Given the description of an element on the screen output the (x, y) to click on. 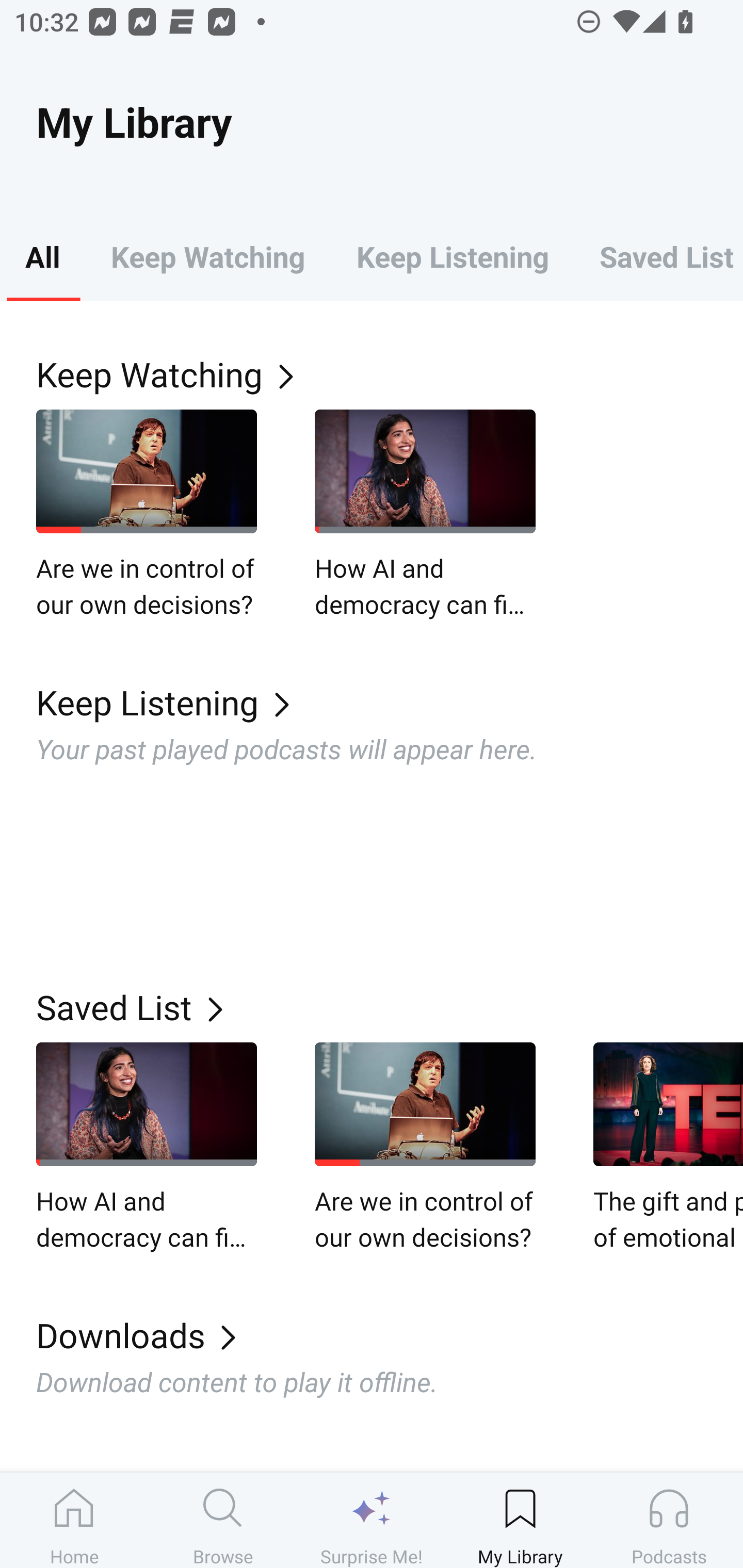
All (42, 256)
Keep Watching (207, 256)
Keep Listening (452, 256)
Saved List (658, 256)
Keep Watching (389, 373)
Are we in control of our own decisions? (146, 514)
How AI and democracy can fix each other (425, 514)
Keep Listening (389, 702)
Saved List (389, 1007)
How AI and democracy can fix each other (146, 1148)
Are we in control of our own decisions? (425, 1148)
The gift and power of emotional courage (668, 1148)
Downloads (389, 1334)
Home (74, 1520)
Browse (222, 1520)
Surprise Me! (371, 1520)
My Library (519, 1520)
Podcasts (668, 1520)
